Given the description of an element on the screen output the (x, y) to click on. 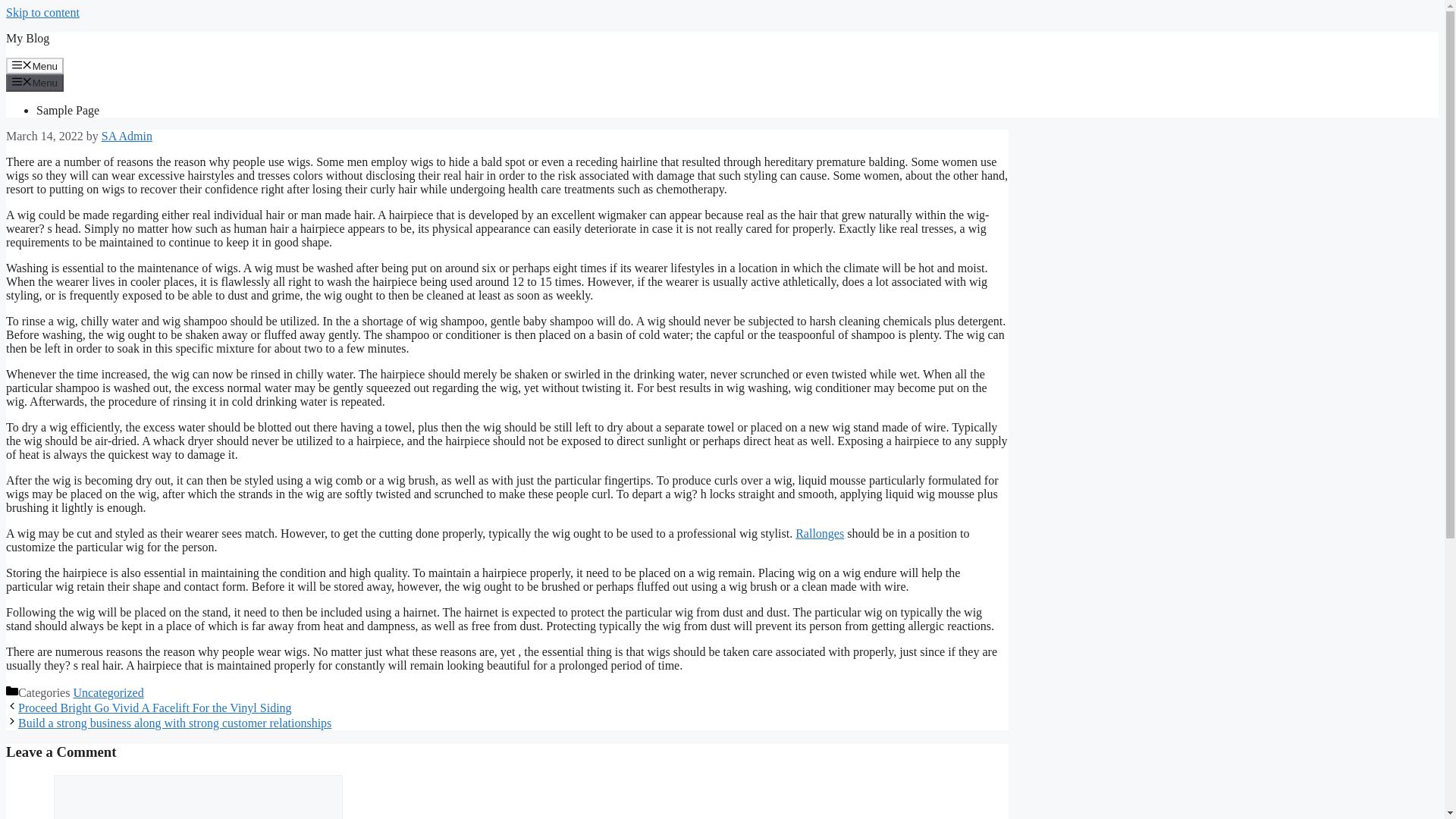
Proceed Bright Go Vivid A Facelift For the Vinyl Siding (154, 707)
Rallonges (819, 533)
My Blog (27, 38)
SA Admin (126, 135)
Uncategorized (107, 692)
Skip to content (42, 11)
Menu (34, 65)
Skip to content (42, 11)
Sample Page (67, 110)
